Given the description of an element on the screen output the (x, y) to click on. 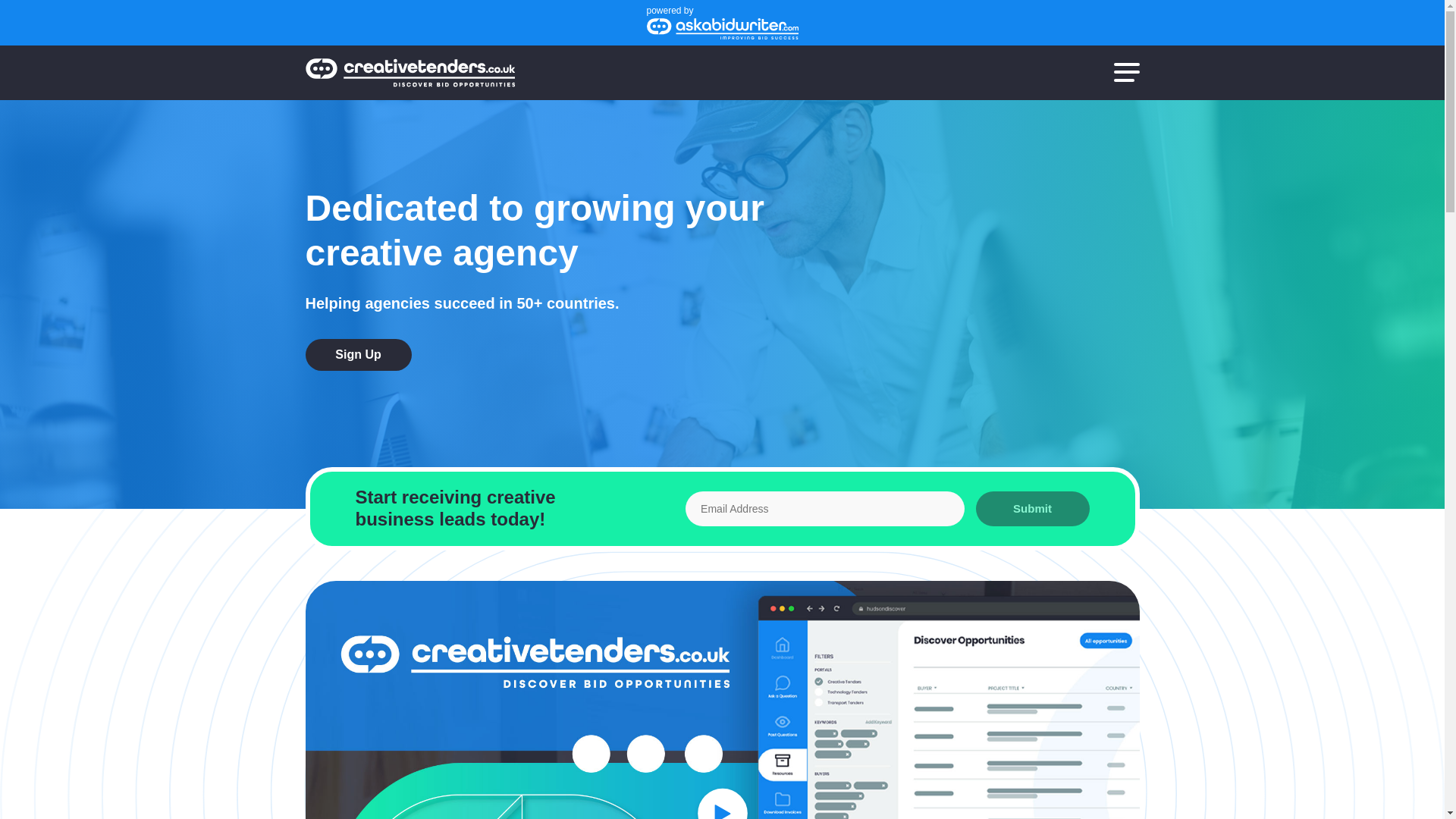
Submit (1032, 508)
Sign Up (357, 355)
